Given the description of an element on the screen output the (x, y) to click on. 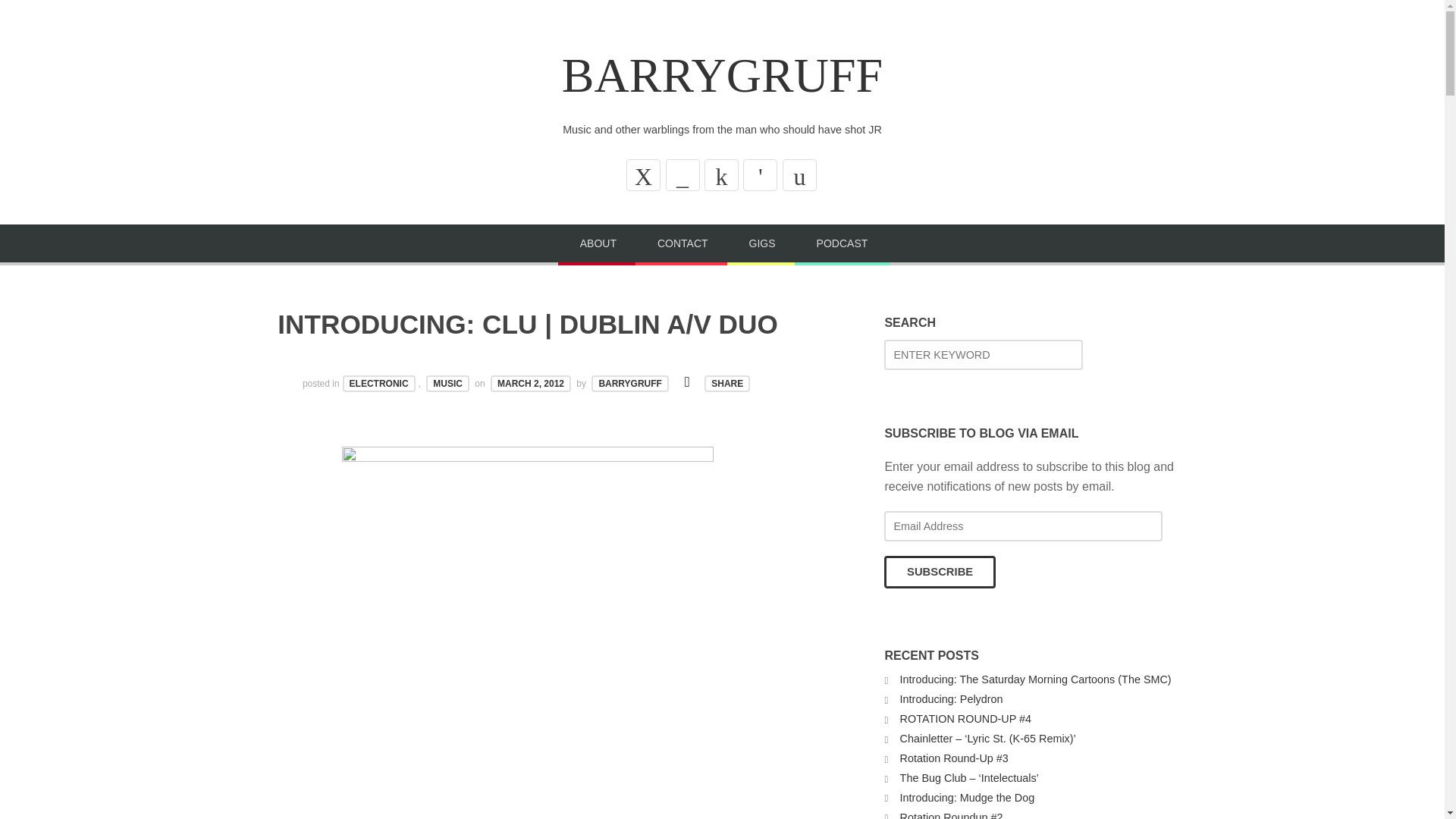
SHARE (726, 383)
X (643, 174)
12:52 pm (530, 383)
' (759, 174)
BARRYGRUFF (722, 75)
MARCH 2, 2012 (530, 383)
BARRYGRUFF (629, 383)
PODCAST (841, 244)
u (799, 174)
ELECTRONIC (378, 383)
GIGS (761, 244)
k (721, 174)
MUSIC (447, 383)
View all posts by BarryGruff (629, 383)
ABOUT (598, 244)
